Given the description of an element on the screen output the (x, y) to click on. 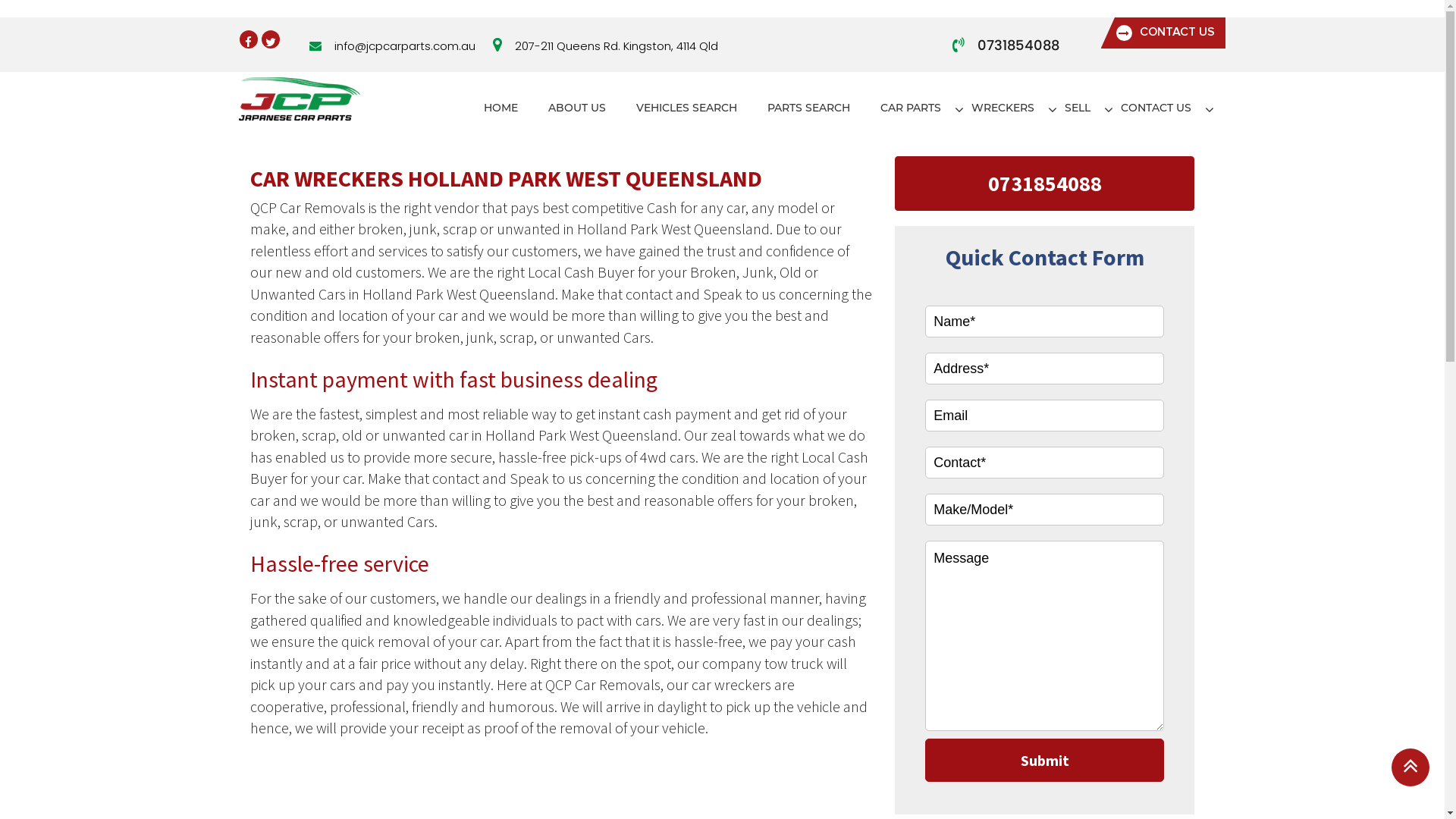
0731854088 Element type: text (1018, 44)
VEHICLES SEARCH Element type: text (685, 107)
0731854088 Element type: text (1044, 183)
WRECKERS Element type: text (1001, 107)
ABOUT US Element type: text (576, 107)
PARTS SEARCH Element type: text (808, 107)
CAR PARTS Element type: text (909, 107)
Submit Element type: text (1044, 759)
SELL Element type: text (1077, 107)
CONTACT US Element type: text (1155, 107)
info@jcpcarparts.com.au Element type: text (403, 45)
HOME Element type: text (500, 107)
CONTACT US Element type: text (1163, 32)
jcp-carparts Element type: hover (298, 97)
